Given the description of an element on the screen output the (x, y) to click on. 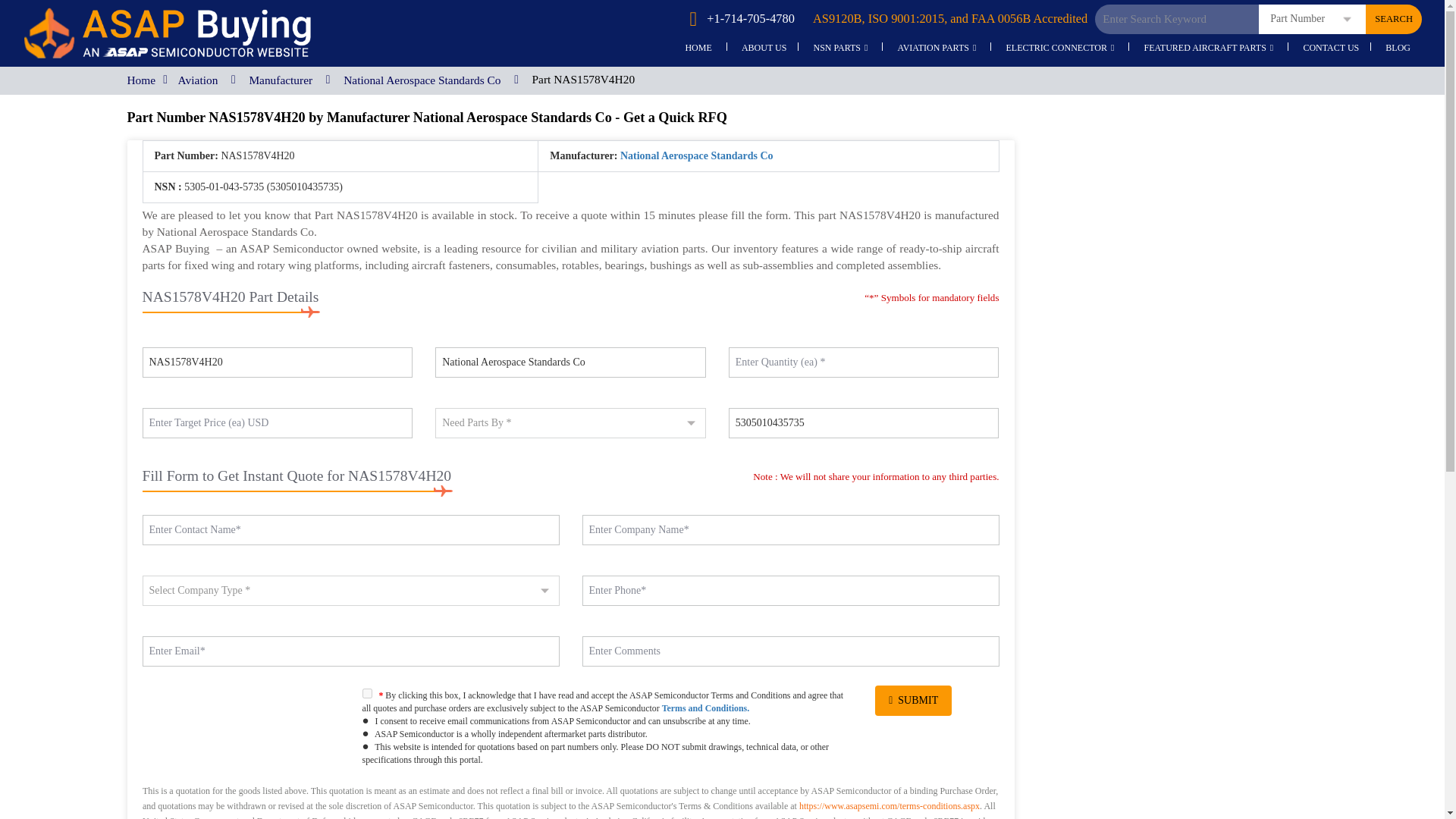
on (367, 693)
Terms and Conditions. (705, 707)
SEARCH (1393, 19)
ABOUT US (763, 48)
FEATURED AIRCRAFT PARTS (1208, 48)
Aviation (197, 80)
disclaimer (570, 796)
NAS1578V4H20 (277, 362)
ELECTRIC CONNECTOR (1059, 48)
National Aerospace Standards Co (570, 362)
